Given the description of an element on the screen output the (x, y) to click on. 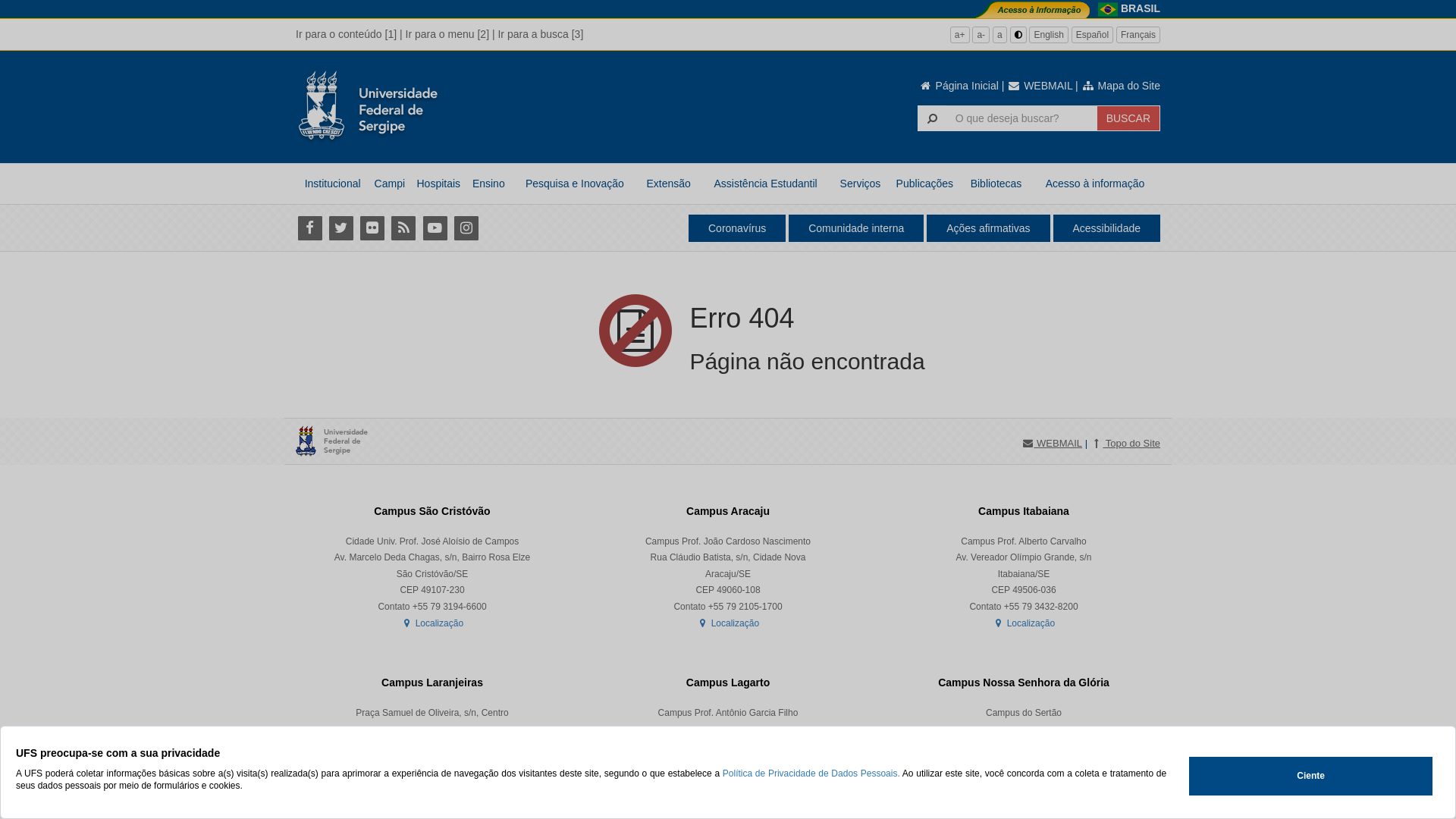
Flickr Element type: text (371, 227)
Acessibilidade Element type: text (1106, 227)
Instagram Element type: text (465, 227)
English Element type: text (1048, 34)
Twitter Element type: text (340, 227)
a+ Element type: text (959, 34)
RSS Element type: text (403, 227)
Hospitais Element type: text (438, 183)
WEBMAIL Element type: text (1051, 443)
Institucional Element type: text (332, 183)
a- Element type: text (980, 34)
WEBMAIL Element type: text (1039, 85)
Facebook Element type: text (309, 227)
Bibliotecas Element type: text (995, 183)
Ensino Element type: text (488, 183)
Ir para o menu [2] Element type: text (447, 34)
Ir para a busca [3] Element type: text (540, 34)
Topo do Site Element type: text (1125, 443)
Comunidade interna Element type: text (855, 227)
BRASIL Element type: text (1140, 8)
Mapa do Site Element type: text (1120, 85)
BUSCAR Element type: text (1128, 118)
Youtube Element type: text (434, 227)
Campi Element type: text (389, 183)
a Element type: text (999, 34)
